Given the description of an element on the screen output the (x, y) to click on. 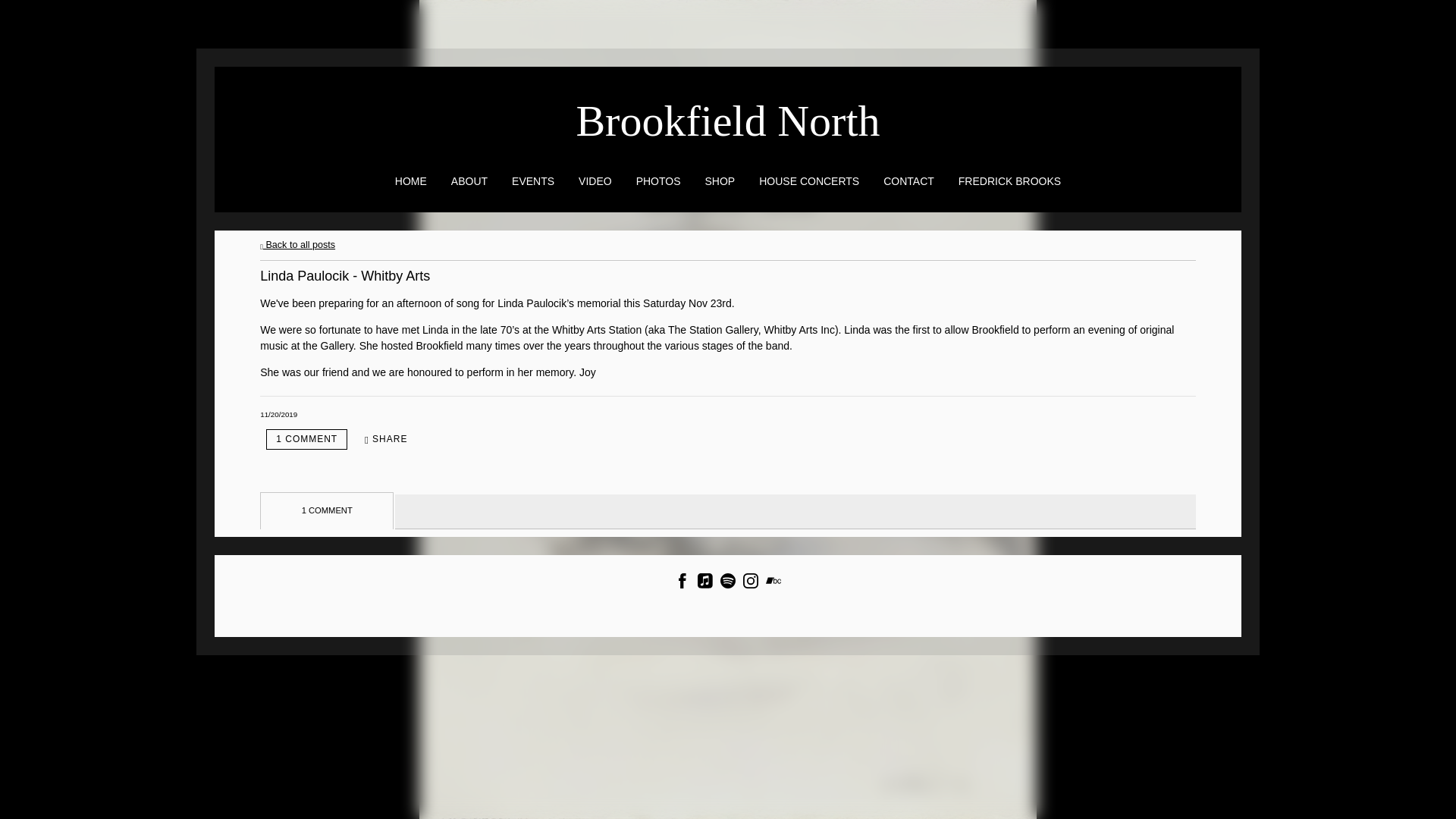
Back to all posts (297, 244)
VIDEO (594, 181)
PHOTOS (658, 181)
Brookfield North (727, 128)
EVENTS (533, 181)
November 20, 2019 20:16 (278, 414)
SHARE (385, 438)
1 COMMENT (306, 439)
ABOUT (469, 181)
CONTACT (908, 181)
Share Linda Paulocik - Whitby Arts (385, 438)
SHOP (719, 181)
1 comment (306, 439)
FREDRICK BROOKS (1009, 181)
HOUSE CONCERTS (808, 181)
